Given the description of an element on the screen output the (x, y) to click on. 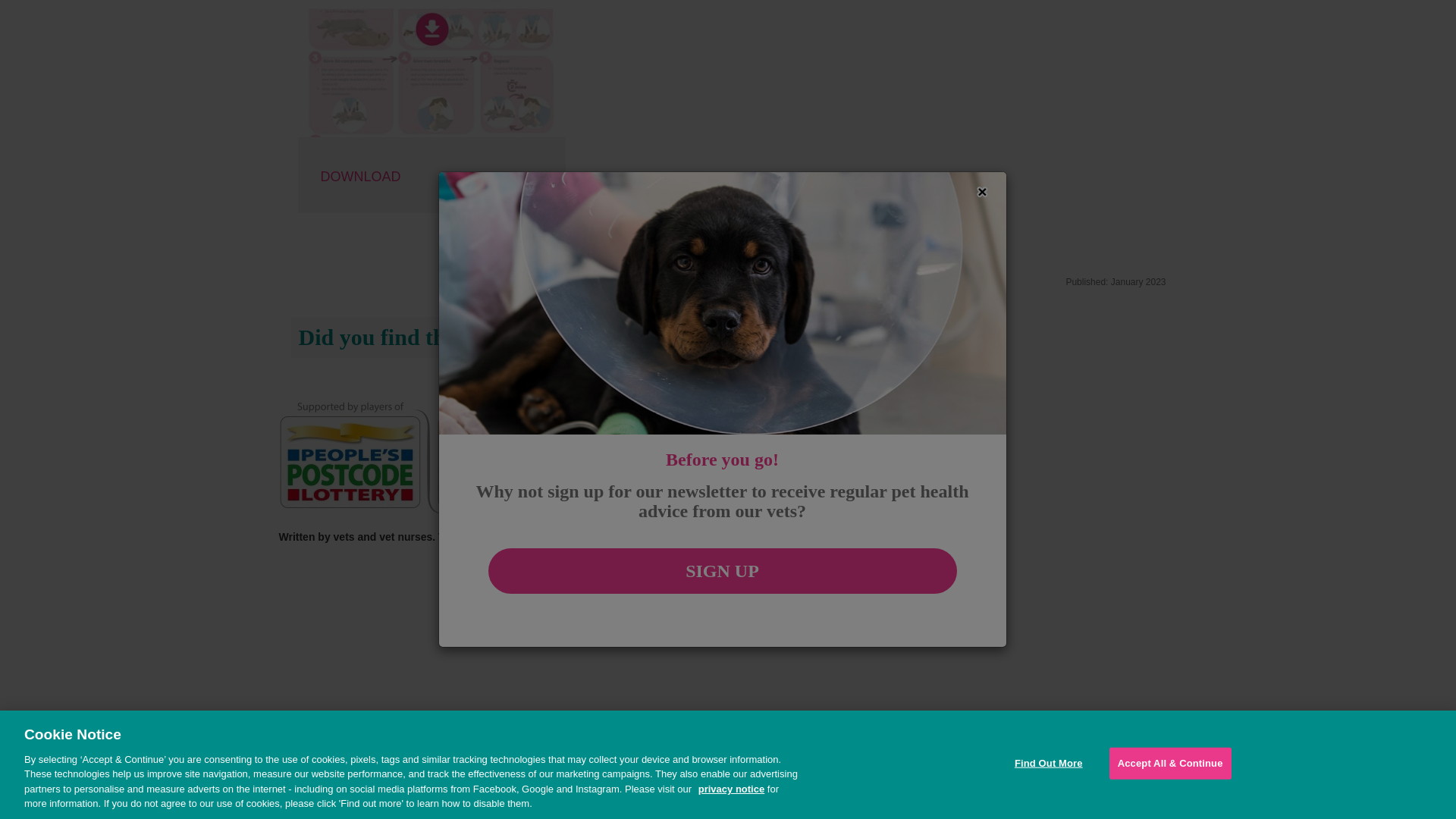
Accredited with Data and Marketing Association (980, 701)
